Given the description of an element on the screen output the (x, y) to click on. 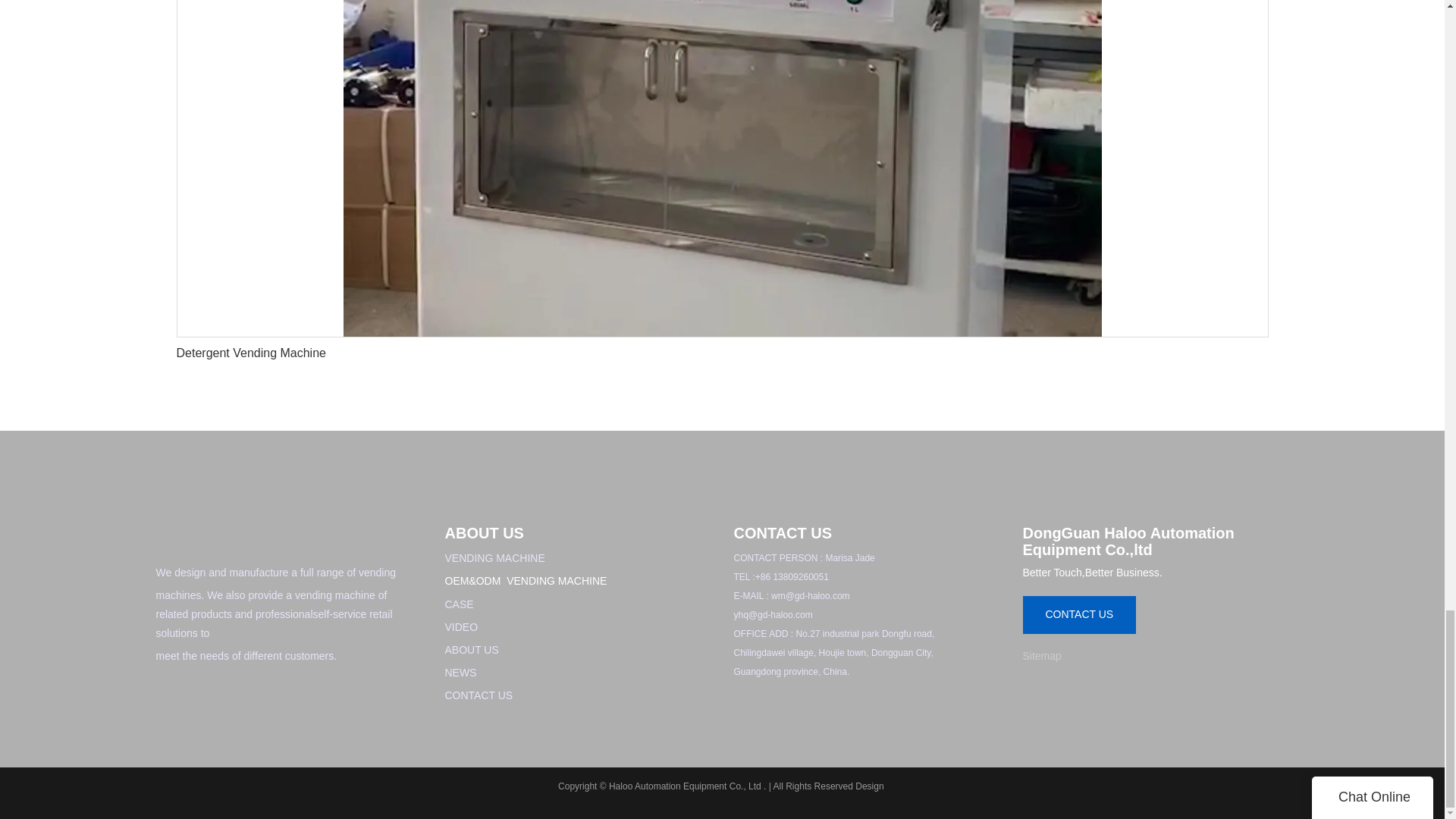
VIDEO (460, 626)
VENDING MACHINE (494, 558)
CASE (458, 604)
